Given the description of an element on the screen output the (x, y) to click on. 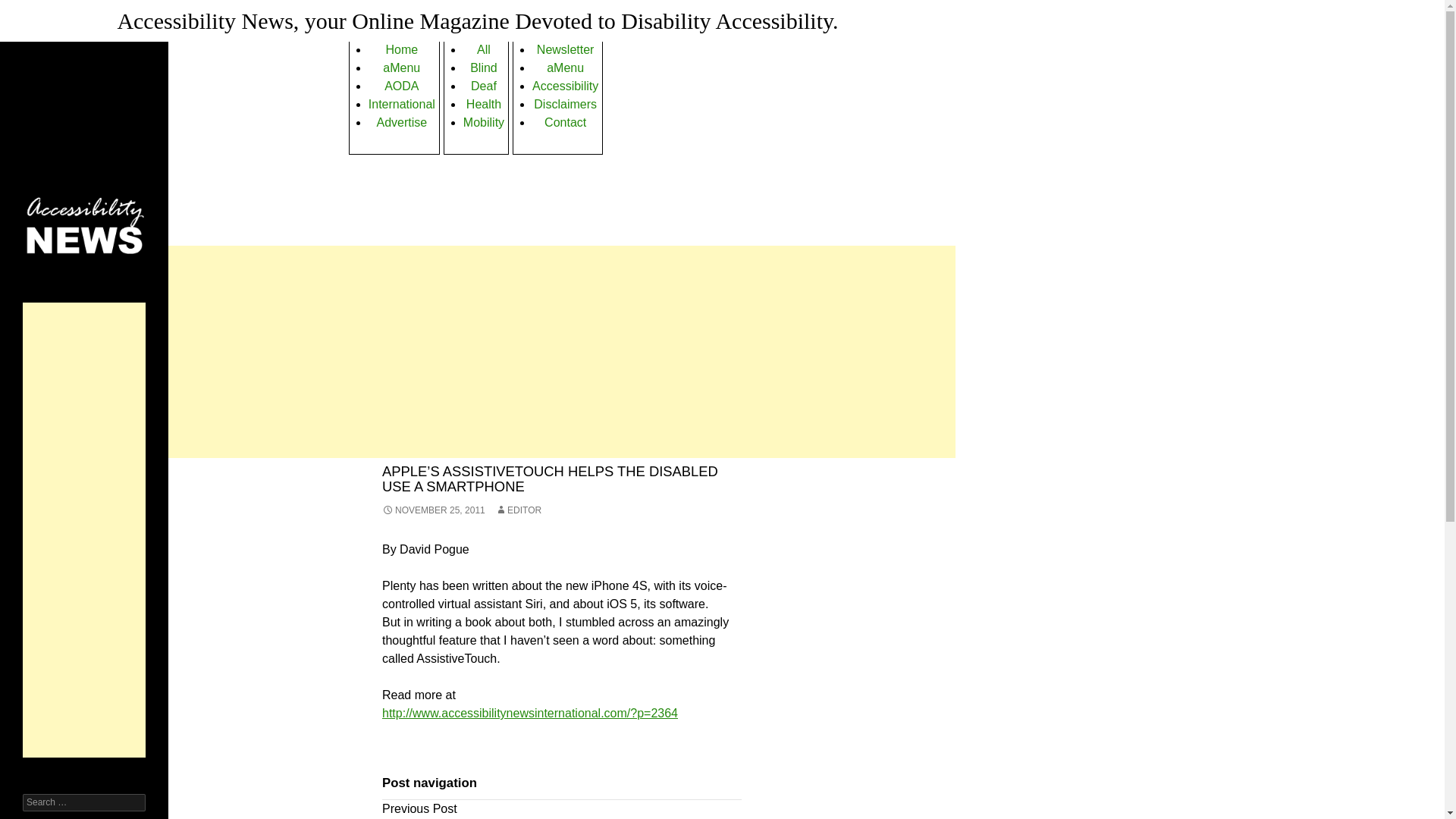
Disclaimers Element type: text (564, 103)
Search Element type: text (30, 8)
Mobility Element type: text (483, 122)
EDITOR Element type: text (518, 510)
Deaf Element type: text (483, 85)
NOVEMBER 25, 2011 Element type: text (433, 510)
Main Menu Element type: text (143, 8)
Accessibility Element type: text (565, 85)
International Element type: text (401, 103)
Newsletter Element type: text (565, 49)
Advertisement Element type: hover (561, 351)
AODA Element type: text (401, 85)
aMenu Element type: text (564, 67)
Main Content Element type: text (58, 8)
Contact Element type: text (565, 122)
http://www.accessibilitynewsinternational.com/?p=2364 Element type: text (529, 712)
Health Element type: text (483, 103)
Advertisement Element type: hover (83, 529)
High Contrast Element type: text (228, 8)
Blind Element type: text (483, 67)
Home Element type: text (401, 49)
All Element type: text (483, 49)
Advertise Element type: text (401, 122)
aMenu Element type: text (401, 67)
